Given the description of an element on the screen output the (x, y) to click on. 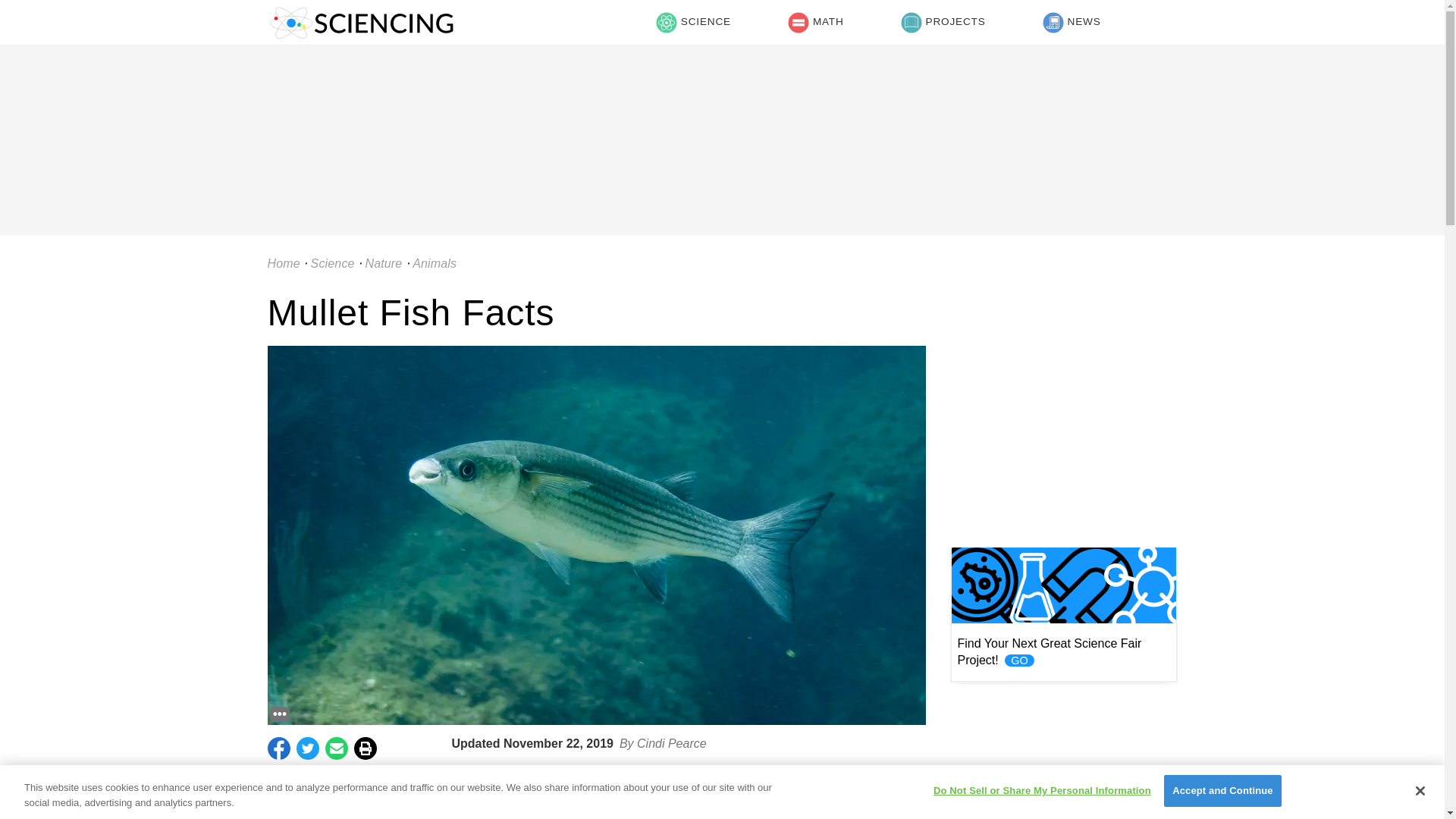
SCIENCE (692, 22)
MATH (814, 22)
